Given the description of an element on the screen output the (x, y) to click on. 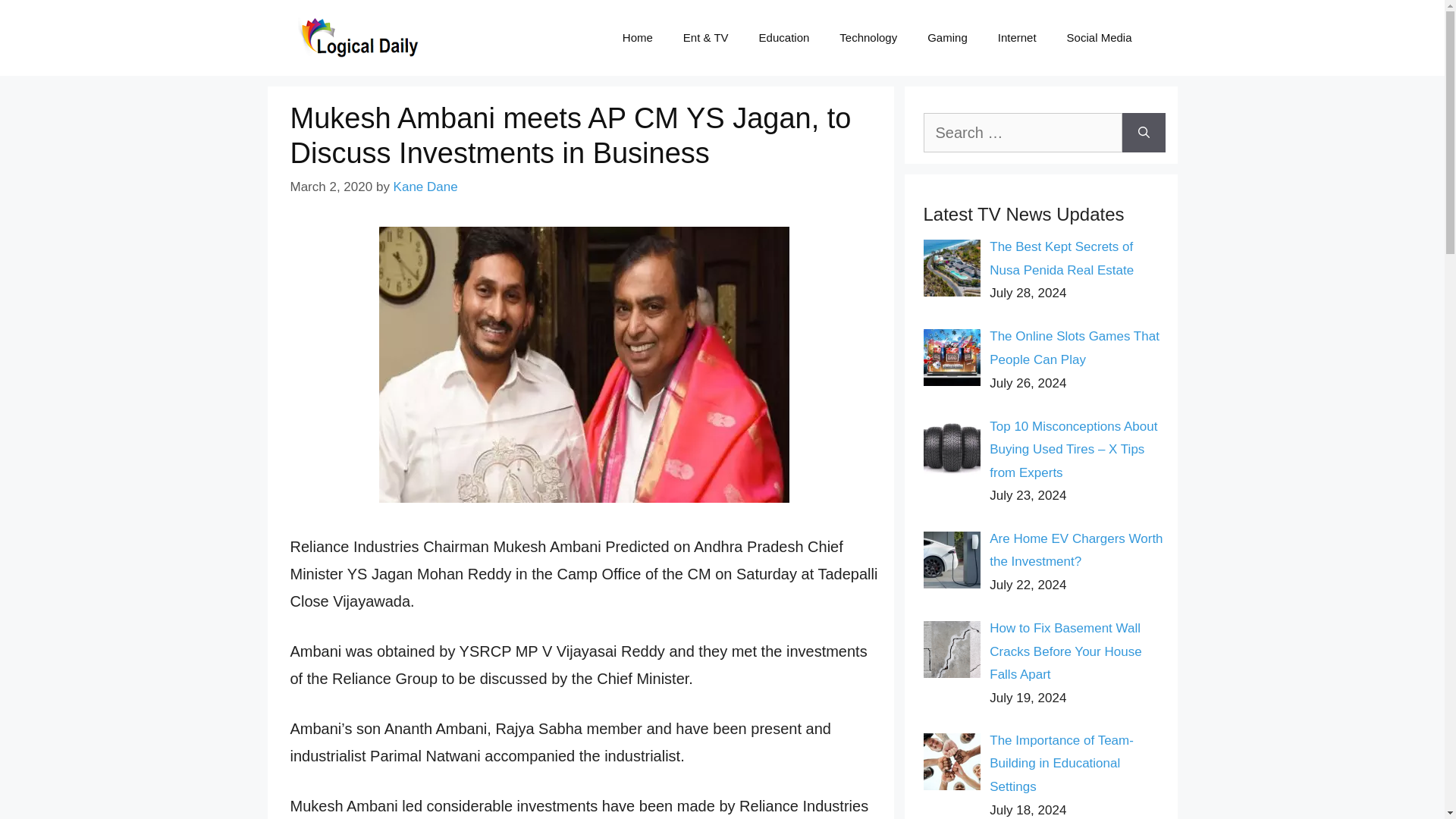
Home (637, 37)
Kane Dane (425, 186)
The Importance of Team-Building in Educational Settings (1062, 763)
Social Media (1099, 37)
The Online Slots Games That People Can Play (1074, 347)
Search for: (1022, 132)
Internet (1016, 37)
Gaming (947, 37)
The Best Kept Secrets of Nusa Penida Real Estate (1062, 258)
